Given the description of an element on the screen output the (x, y) to click on. 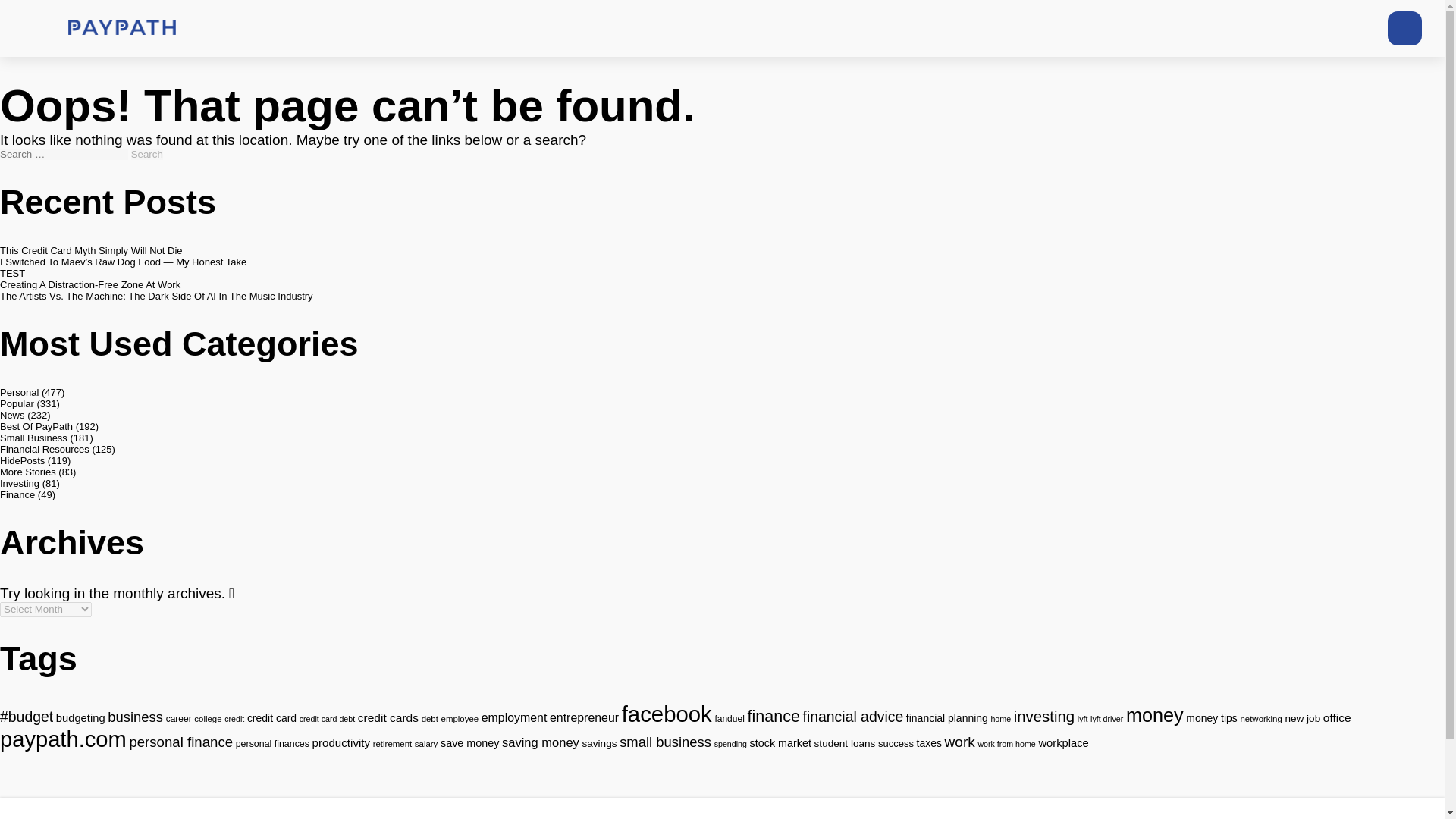
career (178, 718)
business (135, 716)
Search (147, 153)
This Credit Card Myth Simply Will Not Die (91, 250)
Personal (19, 392)
Investing (19, 482)
college (207, 718)
budgeting (80, 717)
TEST (12, 273)
Small Business (33, 437)
Creating A Distraction-Free Zone At Work (90, 284)
More Stories (28, 471)
Popular (16, 403)
Finance (17, 494)
News (12, 414)
